Given the description of an element on the screen output the (x, y) to click on. 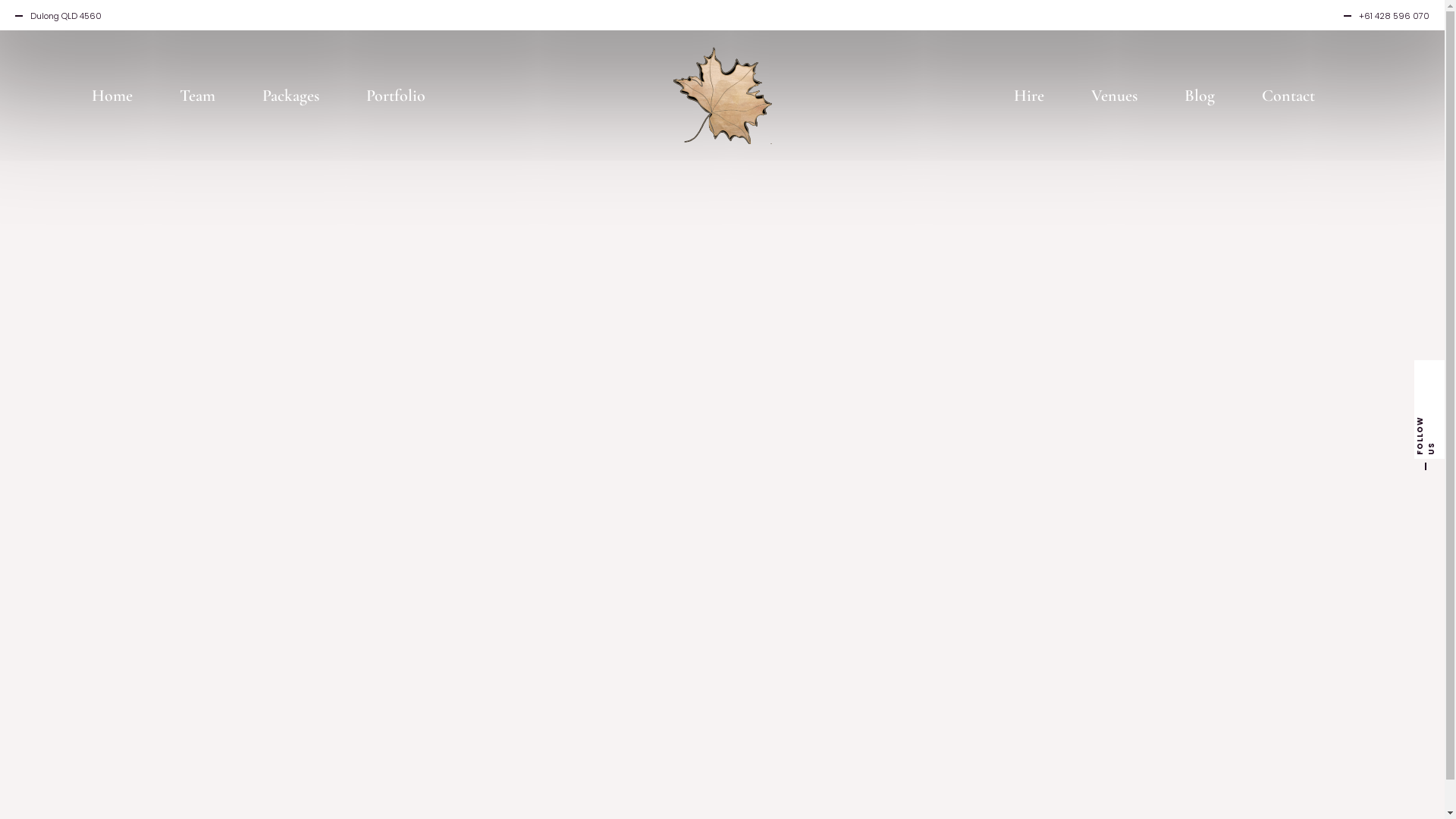
Team Element type: text (197, 92)
Venues Element type: text (1114, 92)
Blog Element type: text (1199, 92)
Hire Element type: text (1028, 92)
Contact Element type: text (1288, 92)
Portfolio Element type: text (395, 92)
Packages Element type: text (290, 92)
Home Element type: text (112, 92)
